Given the description of an element on the screen output the (x, y) to click on. 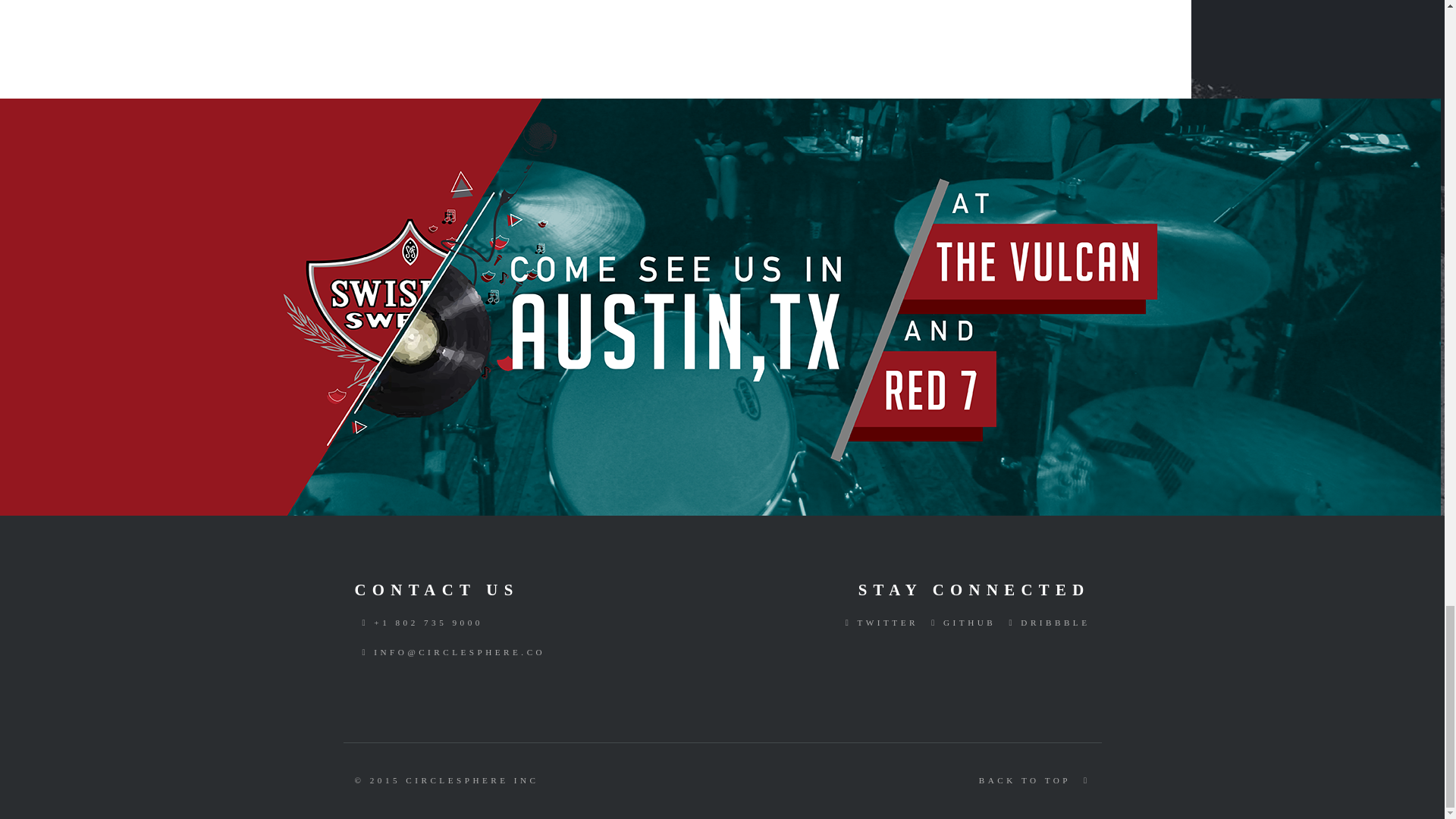
GITHUB (959, 622)
DRIBBBLE (1045, 622)
TWITTER (878, 622)
BACK TO TOP (1034, 779)
